Given the description of an element on the screen output the (x, y) to click on. 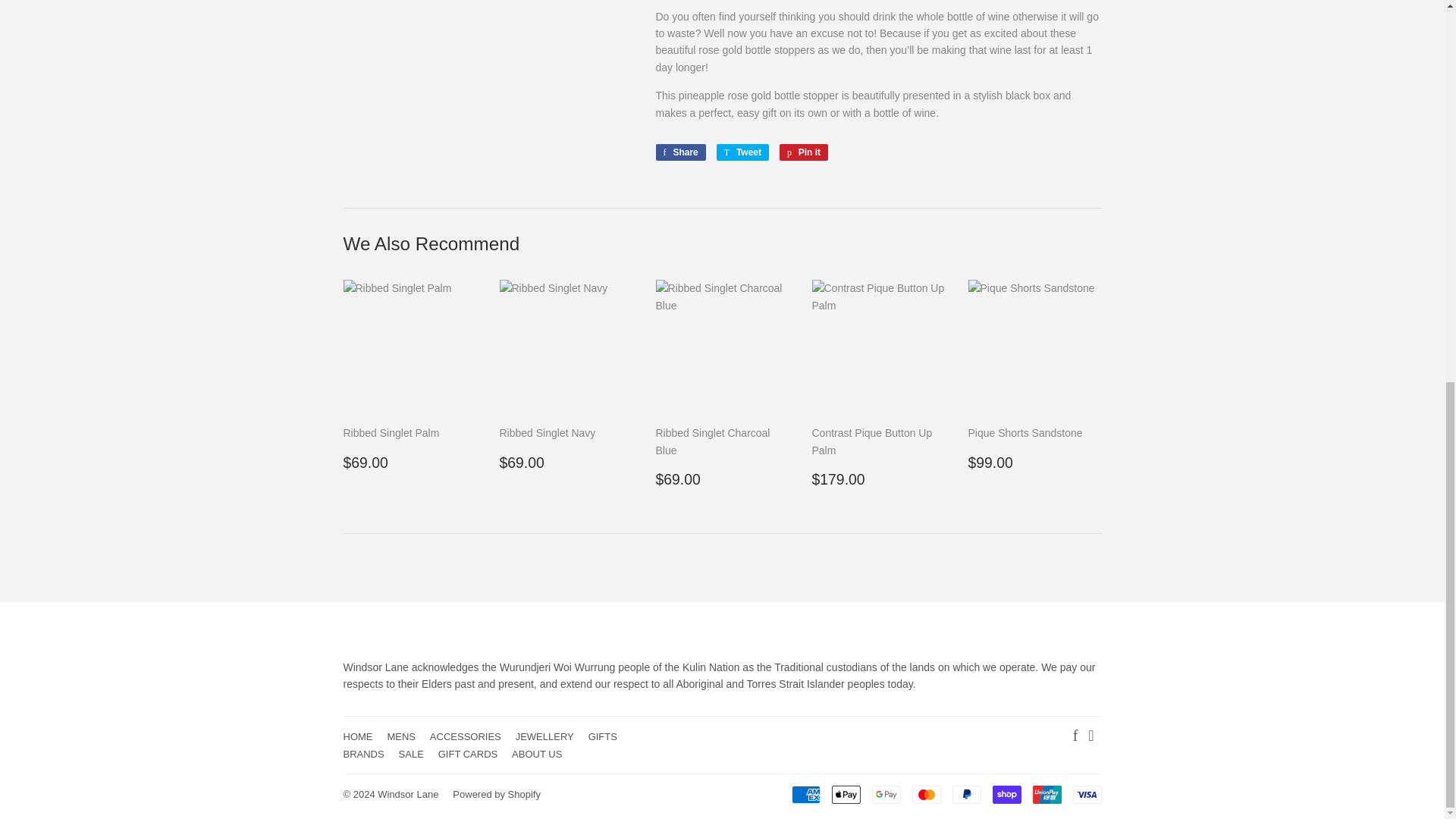
Union Pay (1046, 794)
Shop Pay (1005, 794)
Windsor Lane on Facebook (1075, 736)
PayPal (966, 794)
Apple Pay (845, 794)
Pin on Pinterest (803, 152)
Visa (1085, 794)
Windsor Lane on Instagram (1090, 736)
Mastercard (925, 794)
American Express (806, 794)
Google Pay (886, 794)
Tweet on Twitter (742, 152)
Share on Facebook (679, 152)
